Given the description of an element on the screen output the (x, y) to click on. 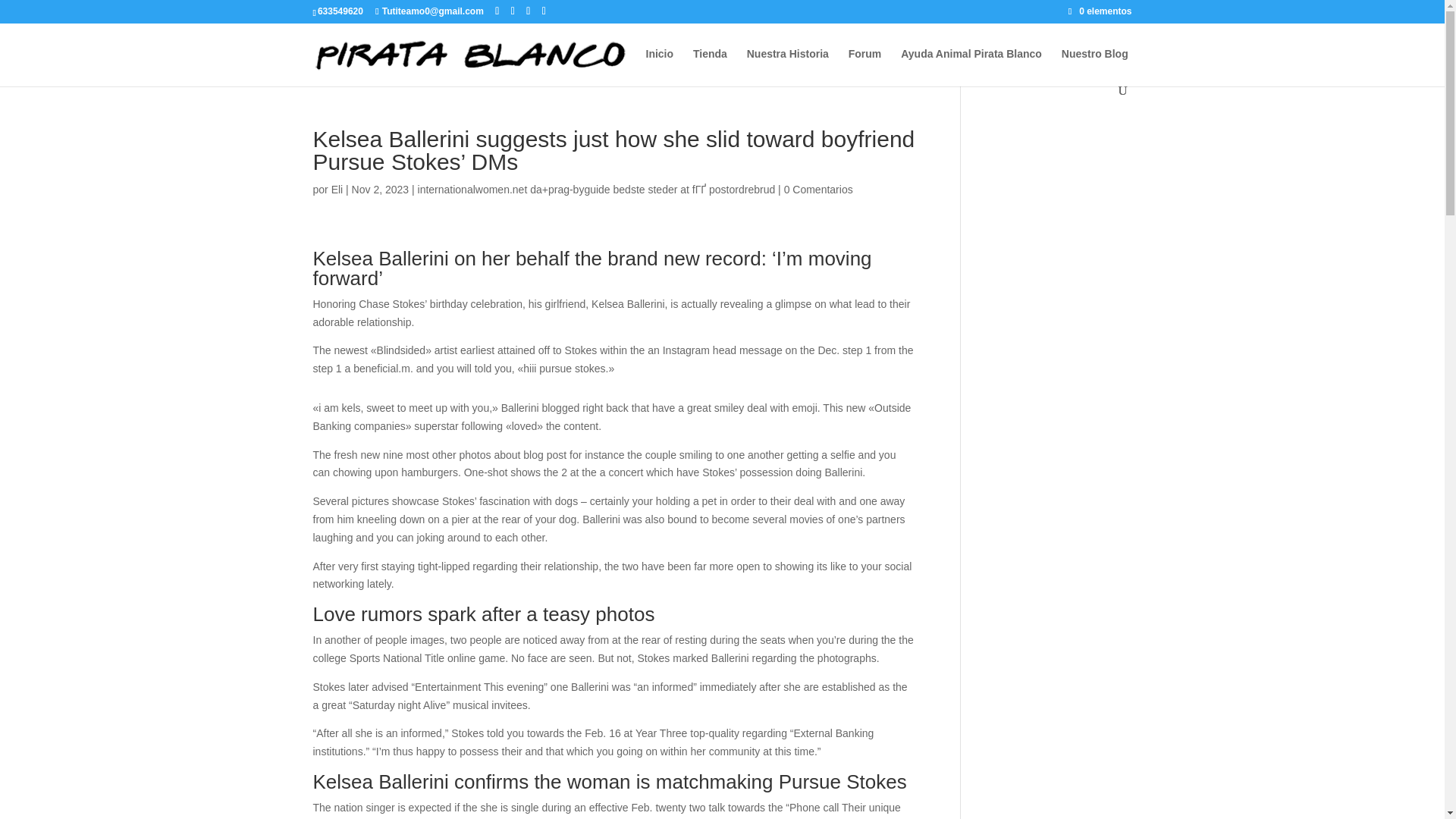
Forum (865, 66)
Tienda (709, 66)
Eli (337, 189)
Nuestra Historia (787, 66)
0 elementos (1100, 10)
Ayuda Animal Pirata Blanco (971, 66)
Nuestro Blog (1094, 66)
Mensajes de Eli (337, 189)
0 Comentarios (818, 189)
